Given the description of an element on the screen output the (x, y) to click on. 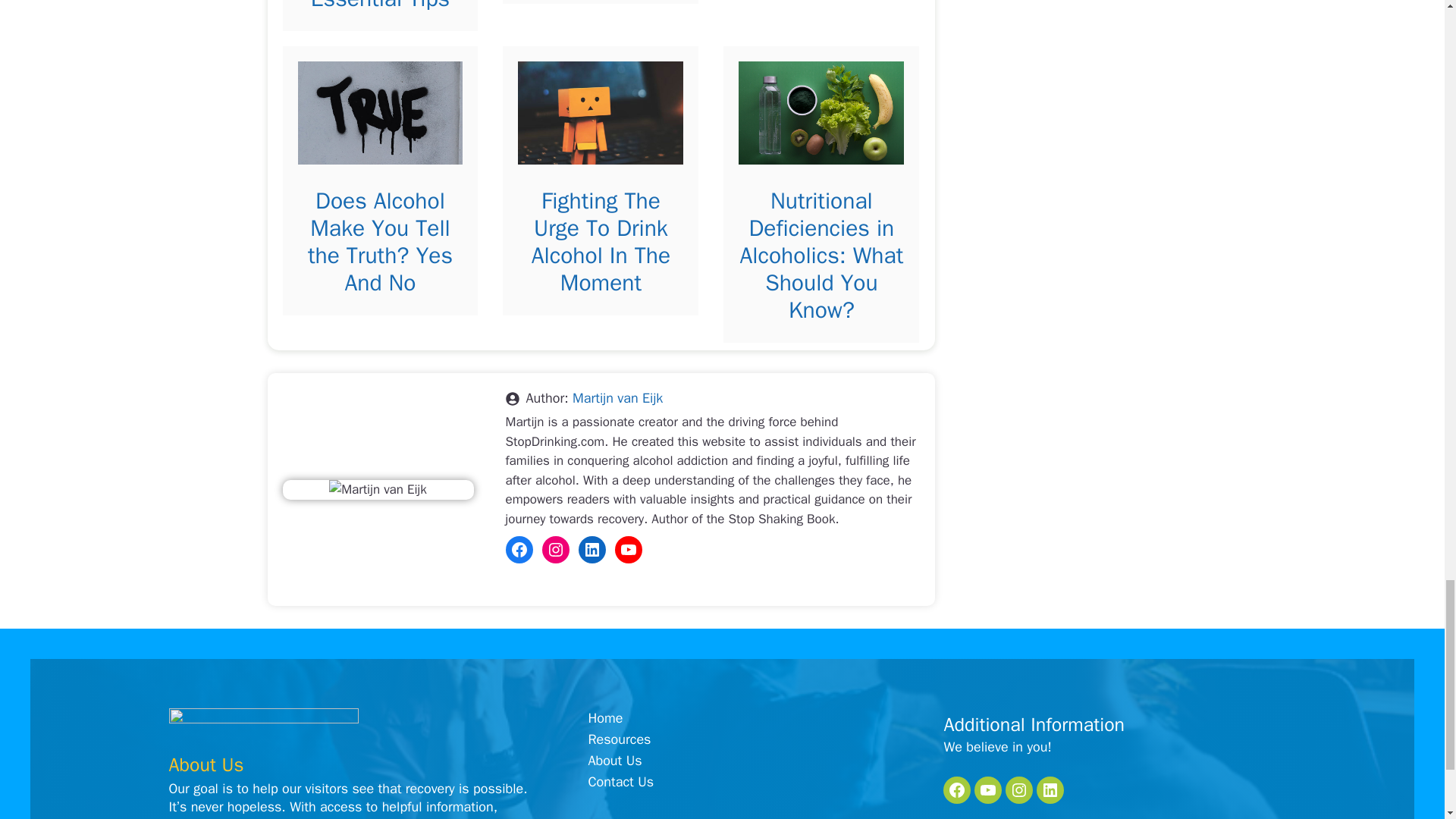
Contact Us (620, 781)
Fighting The Urge To Drink Alcohol In The Moment (600, 241)
stopdrinking logo 3 (263, 727)
About Us (615, 760)
Martijn van Eijk (617, 397)
Facebook (518, 549)
Instagram (555, 549)
YouTube (628, 549)
Home (605, 718)
Resources (619, 739)
Does Alcohol Make You Tell the Truth? Yes And No (379, 241)
LinkedIn (591, 549)
